Given the description of an element on the screen output the (x, y) to click on. 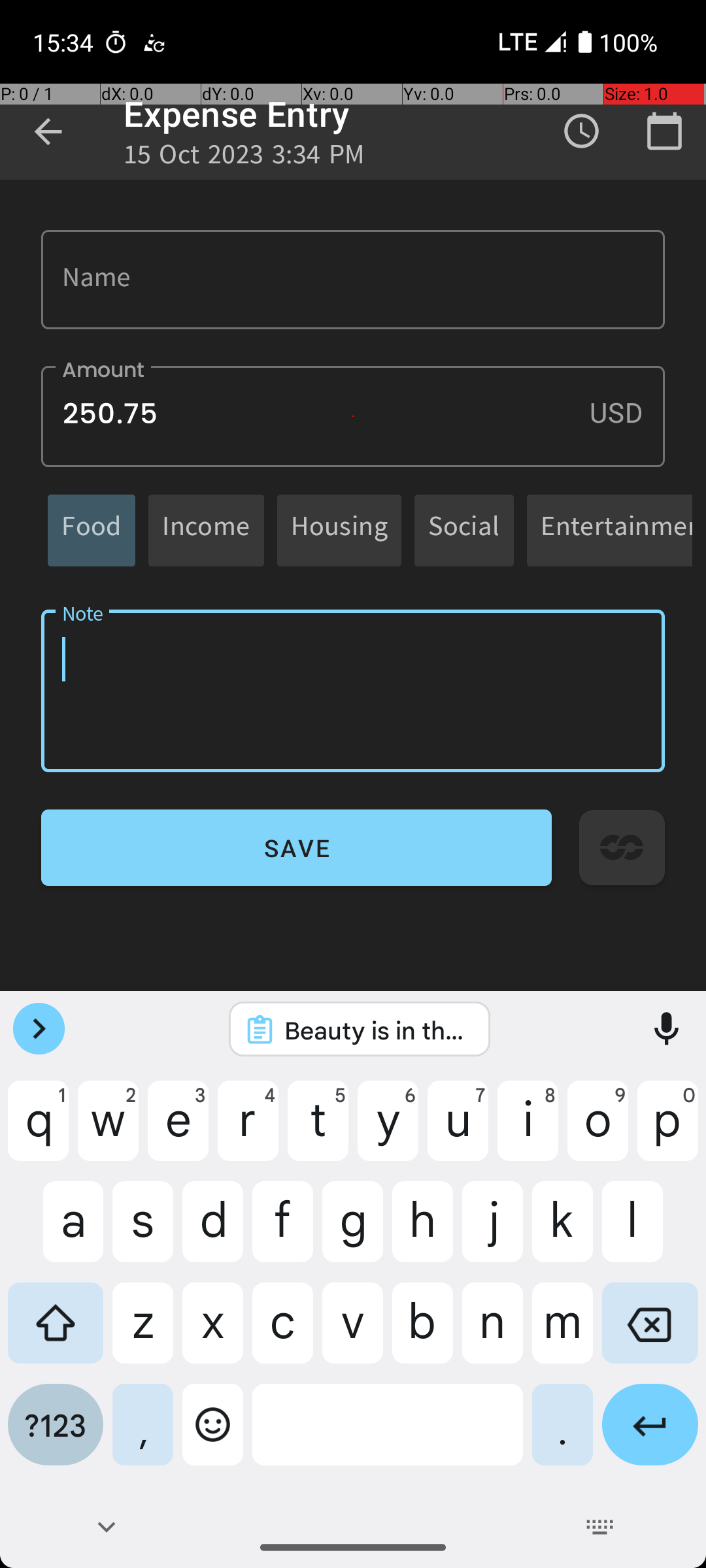
250.75 Element type: android.widget.EditText (352, 416)
Beauty is in the eye of the beholder. Element type: android.widget.TextView (376, 1029)
